Given the description of an element on the screen output the (x, y) to click on. 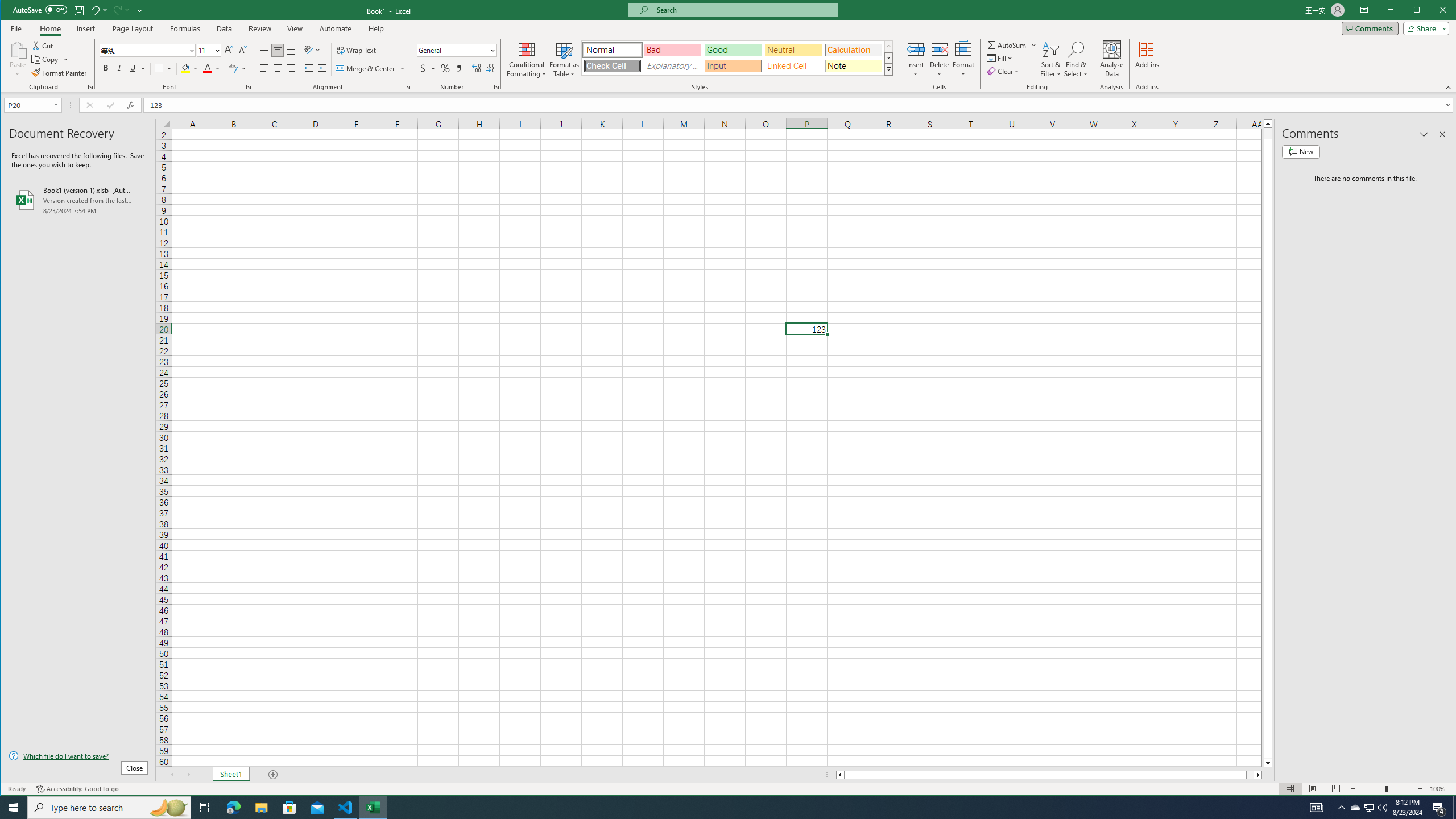
Underline (132, 68)
Start (13, 807)
Percent Style (445, 68)
Format Painter (59, 72)
Fill Color (189, 68)
Underline (137, 68)
Align Right (291, 68)
Visual Studio Code - 1 running window (345, 807)
Font Size (208, 49)
